Given the description of an element on the screen output the (x, y) to click on. 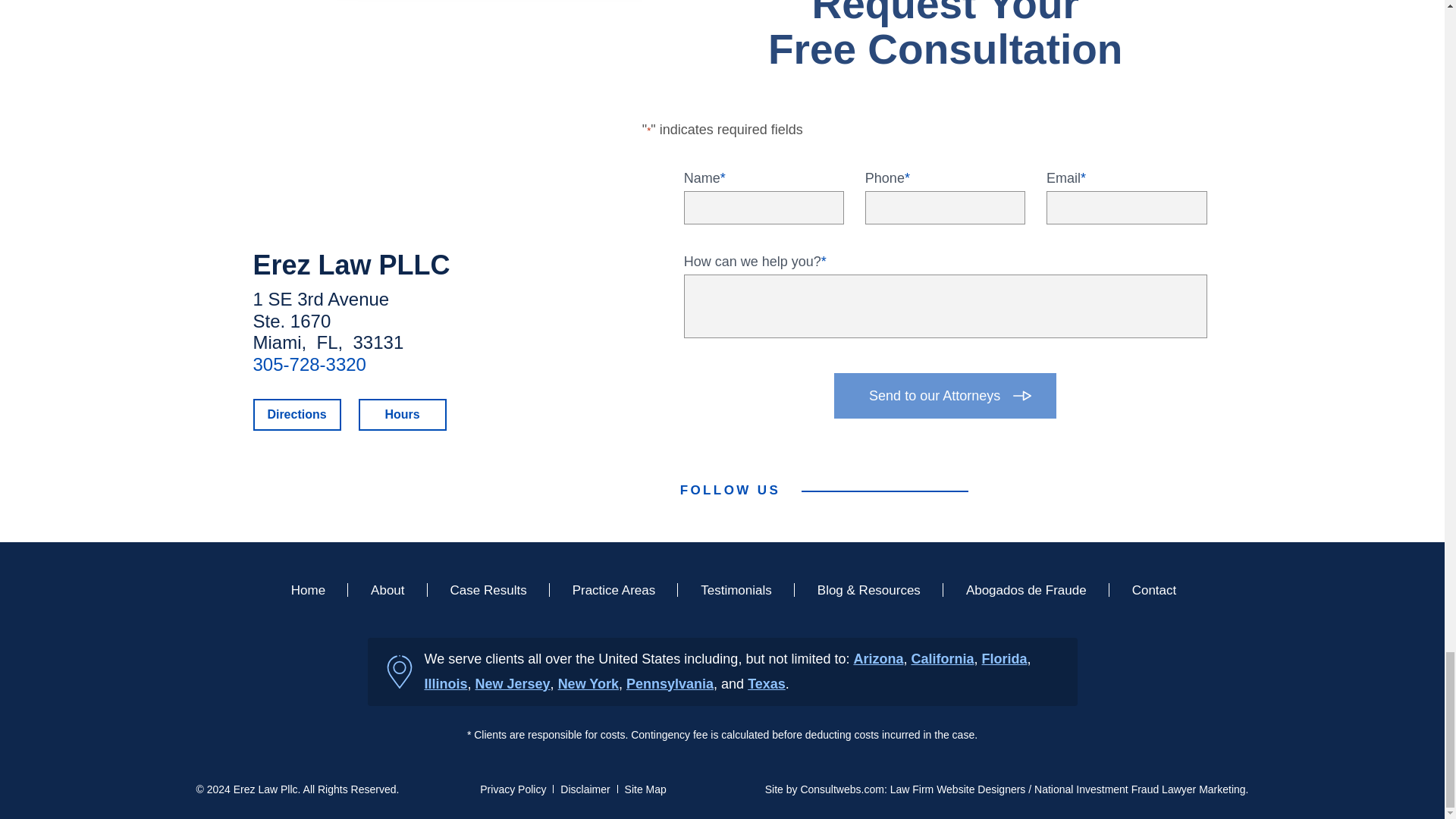
Send to our Attorneys (945, 395)
